Given the description of an element on the screen output the (x, y) to click on. 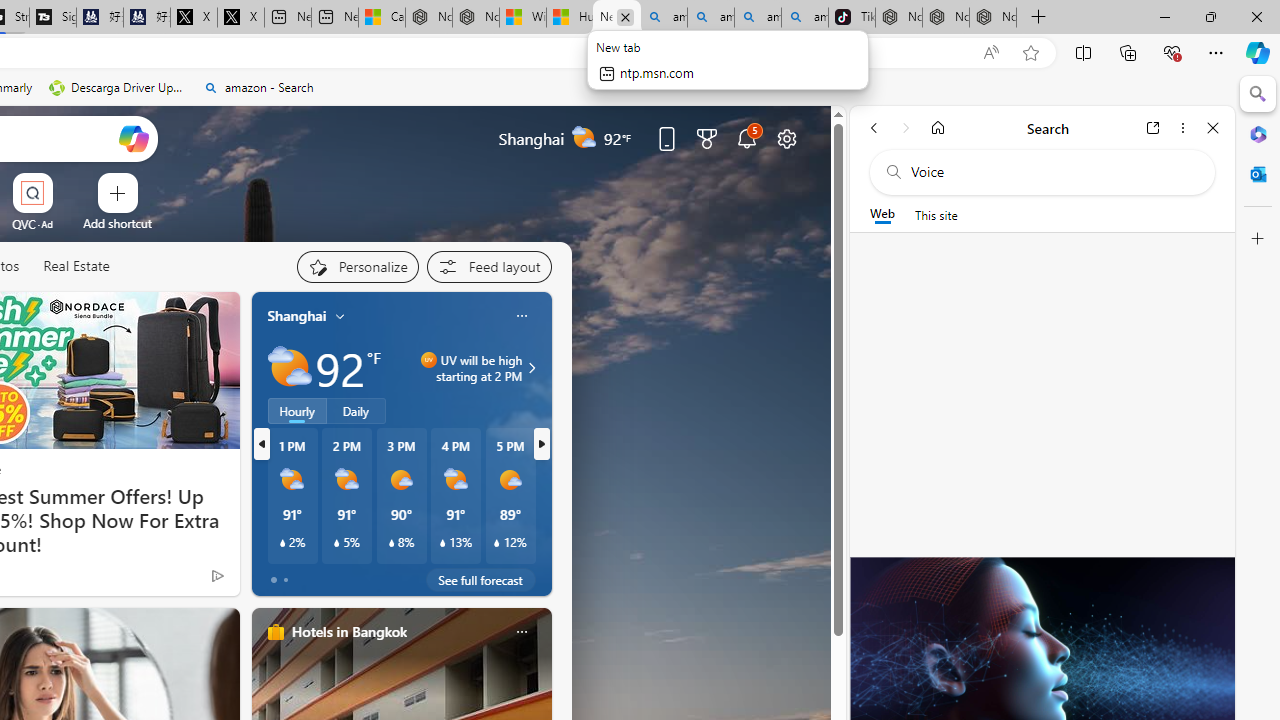
Nordace Siena Pro 15 Backpack (945, 17)
previous (261, 443)
Huge shark washes ashore at New York City beach | Watch (569, 17)
Class: icon-img (521, 632)
